Given the description of an element on the screen output the (x, y) to click on. 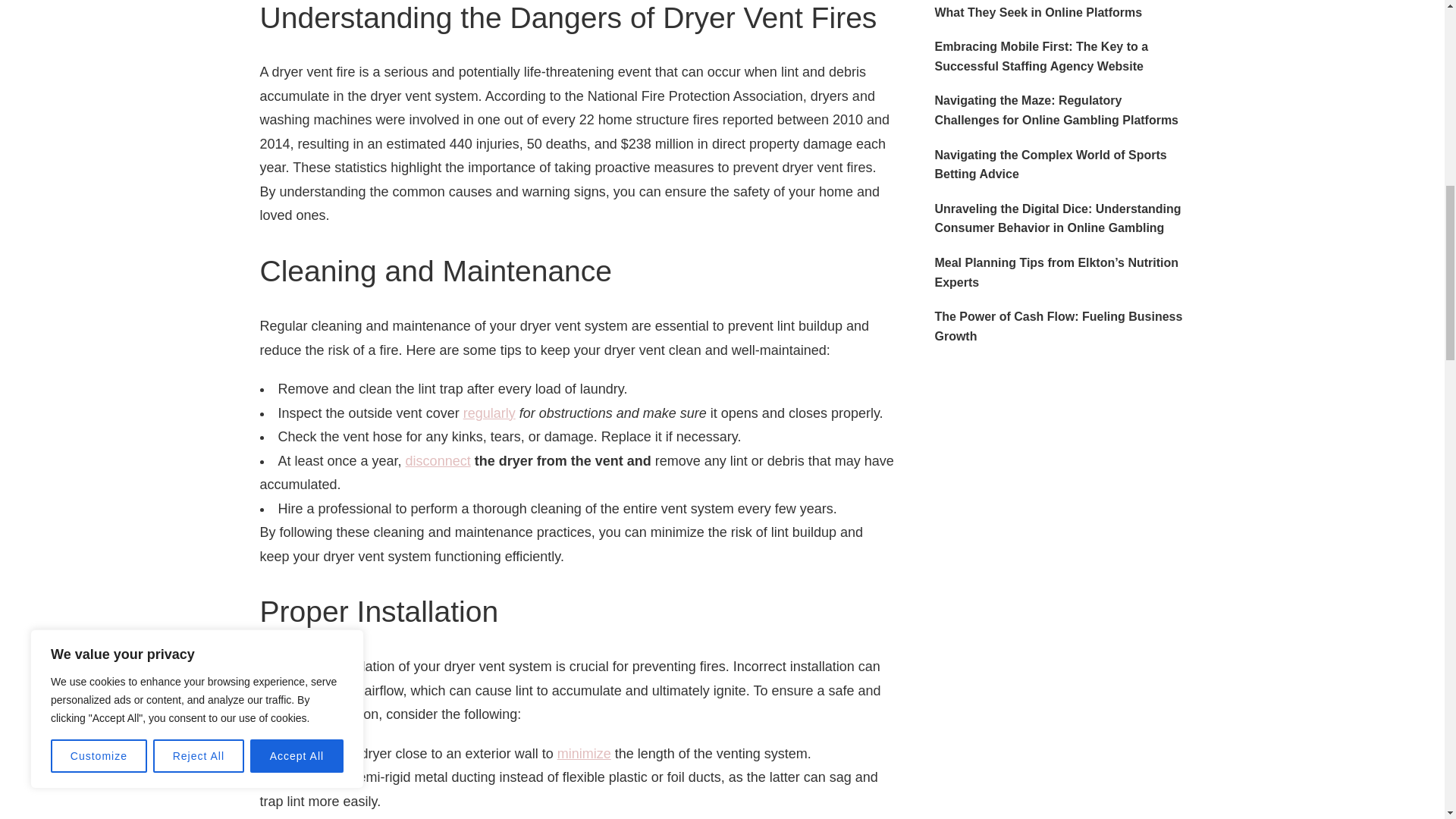
regularly (489, 412)
minimize (584, 753)
disconnect (438, 460)
